Given the description of an element on the screen output the (x, y) to click on. 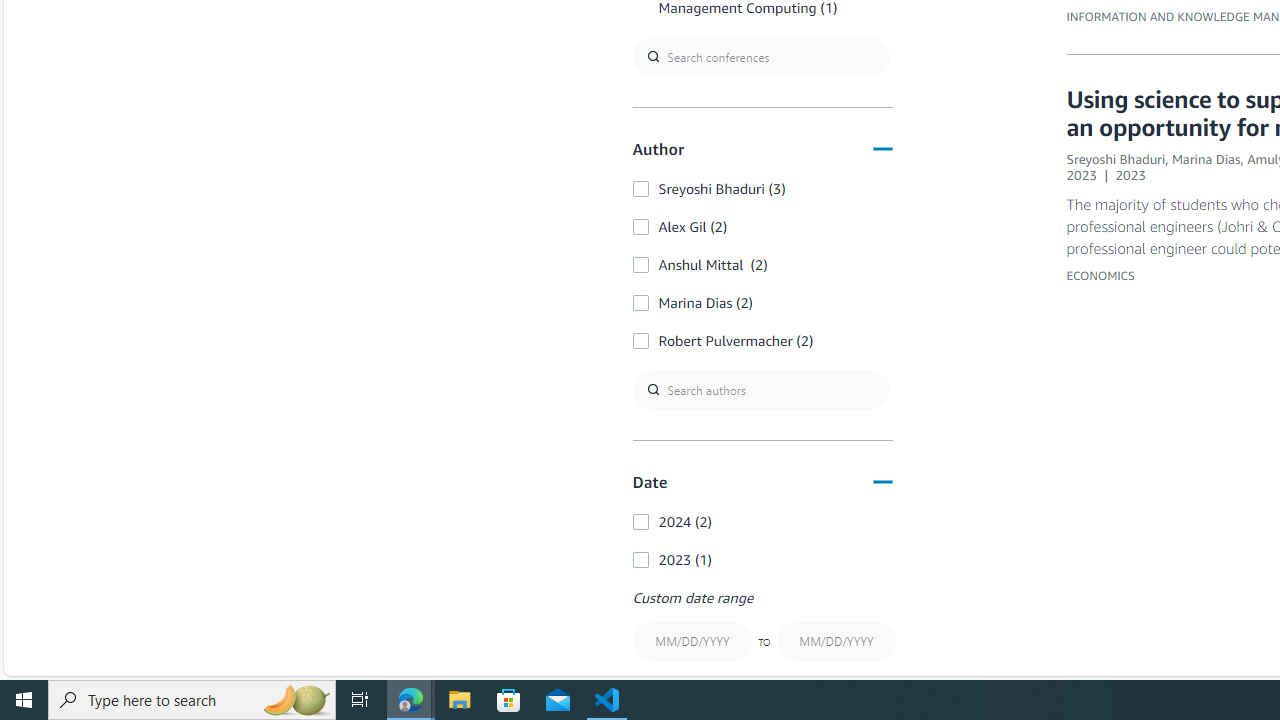
Search conferences (760, 56)
ECONOMICS (1100, 274)
Marina Dias (1206, 158)
Sreyoshi Bhaduri (1116, 158)
Search authors (760, 390)
